Given the description of an element on the screen output the (x, y) to click on. 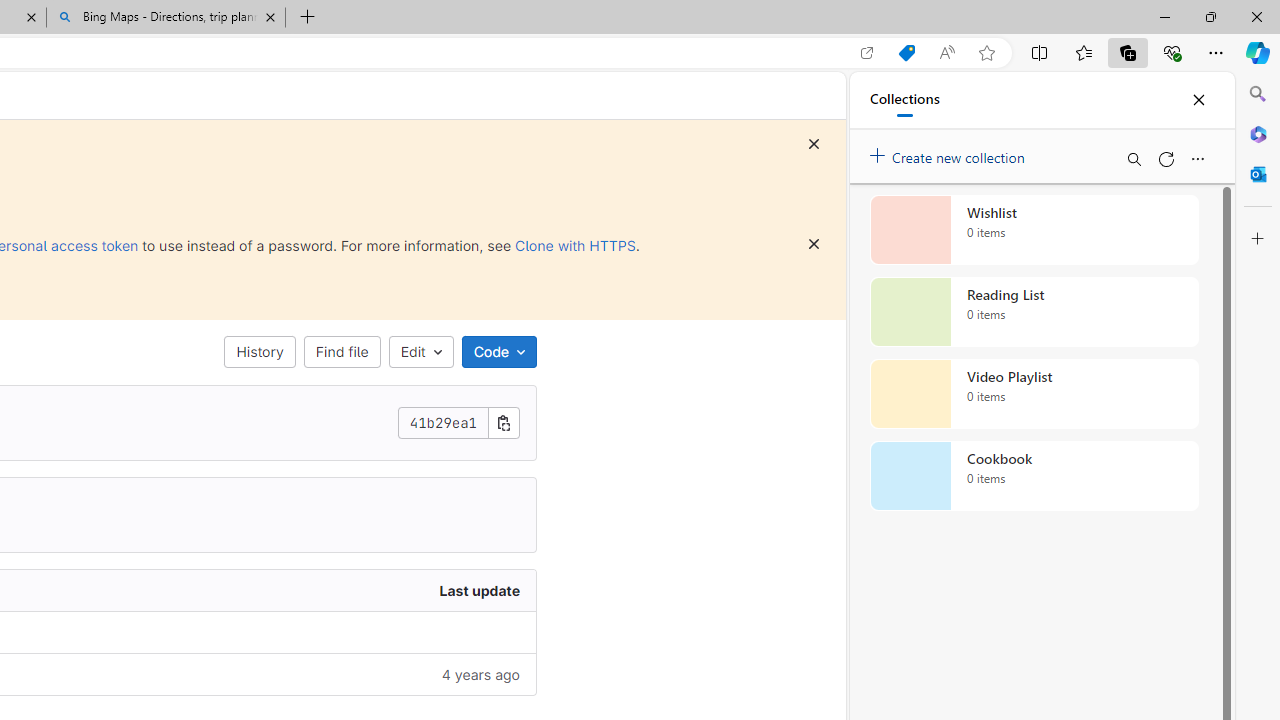
Reading List collection, 0 items (1034, 312)
4 years ago (289, 674)
Dismiss (813, 243)
Create new collection (950, 153)
Code (498, 351)
